Given the description of an element on the screen output the (x, y) to click on. 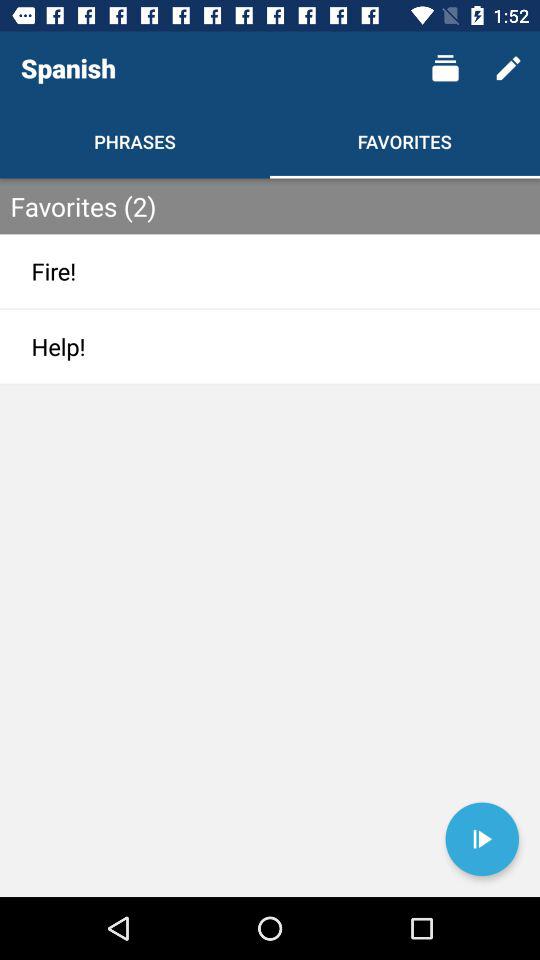
launch item above favorites item (444, 67)
